Given the description of an element on the screen output the (x, y) to click on. 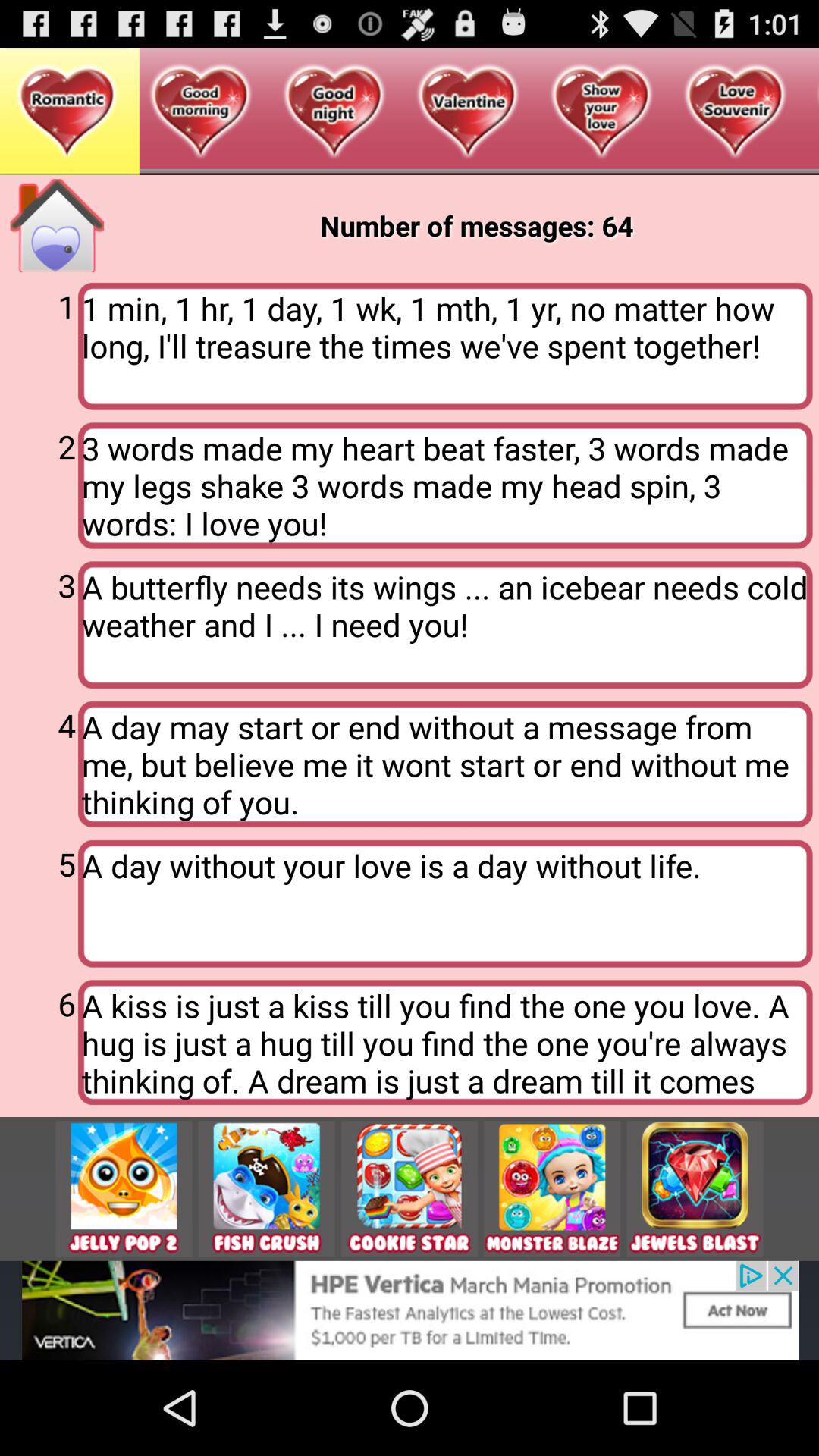
go to cookie star app (409, 1188)
